Given the description of an element on the screen output the (x, y) to click on. 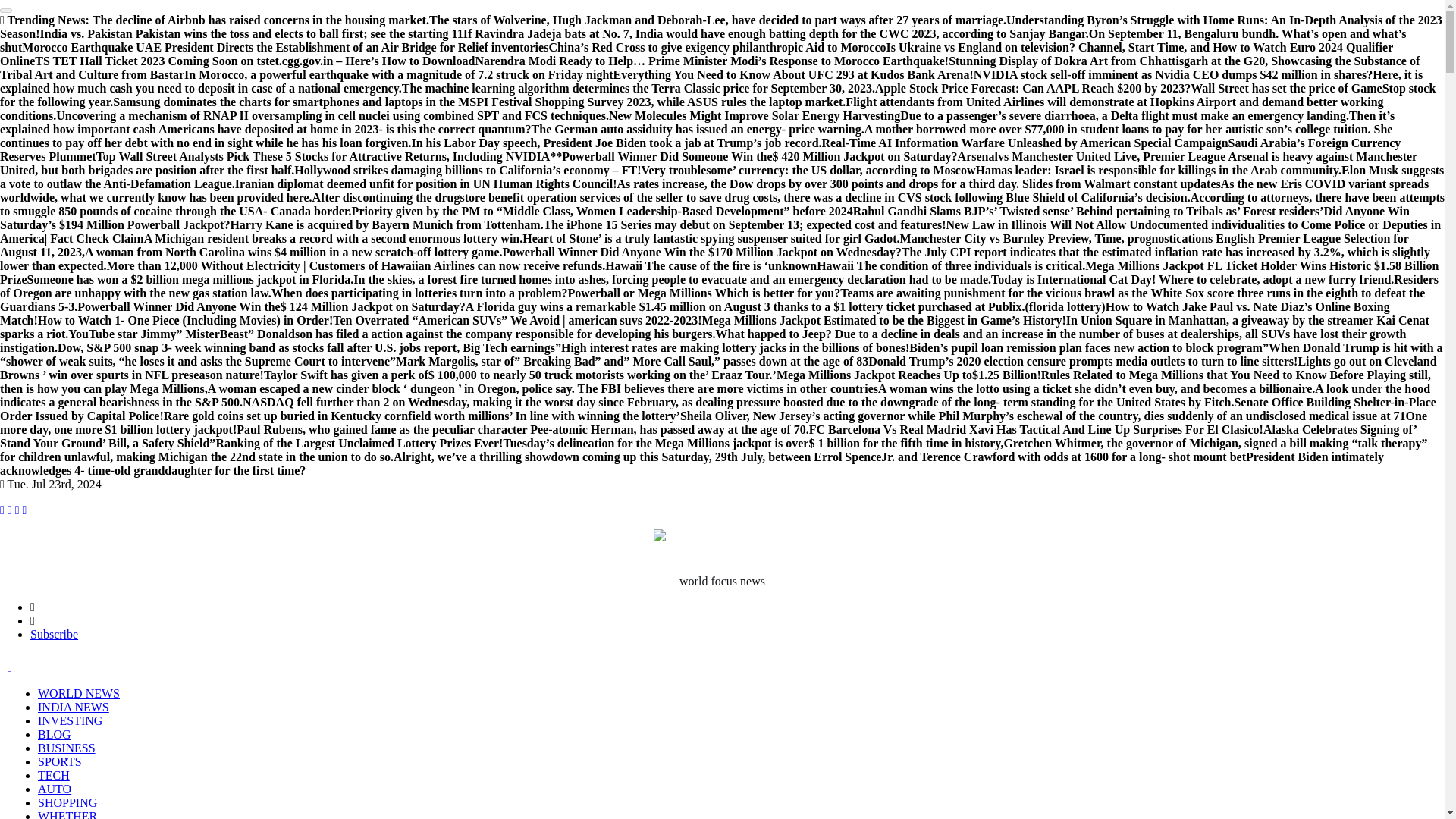
WORLD NEWS (78, 693)
INDIA NEWS (73, 707)
INVESTING (69, 720)
WHETHER (67, 814)
BUSINESS (66, 748)
WHETHER (67, 814)
INVESTING (69, 720)
SPORTS (59, 761)
TECH (53, 775)
Subscribe (54, 634)
SPORTS (59, 761)
INDIA NEWS (73, 707)
WORLD NEWS (78, 693)
AUTO (54, 788)
BLOG (54, 734)
